Given the description of an element on the screen output the (x, y) to click on. 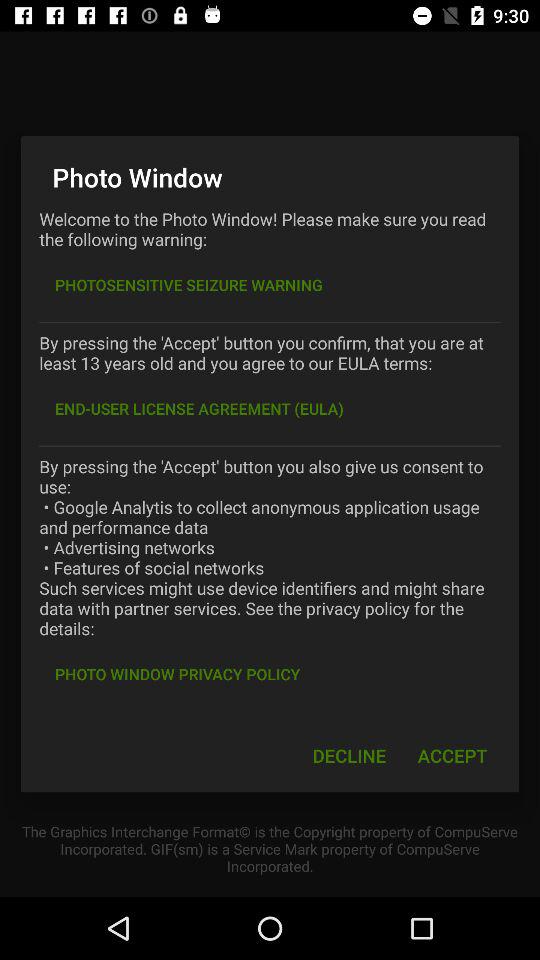
launch item below welcome to the item (188, 284)
